Given the description of an element on the screen output the (x, y) to click on. 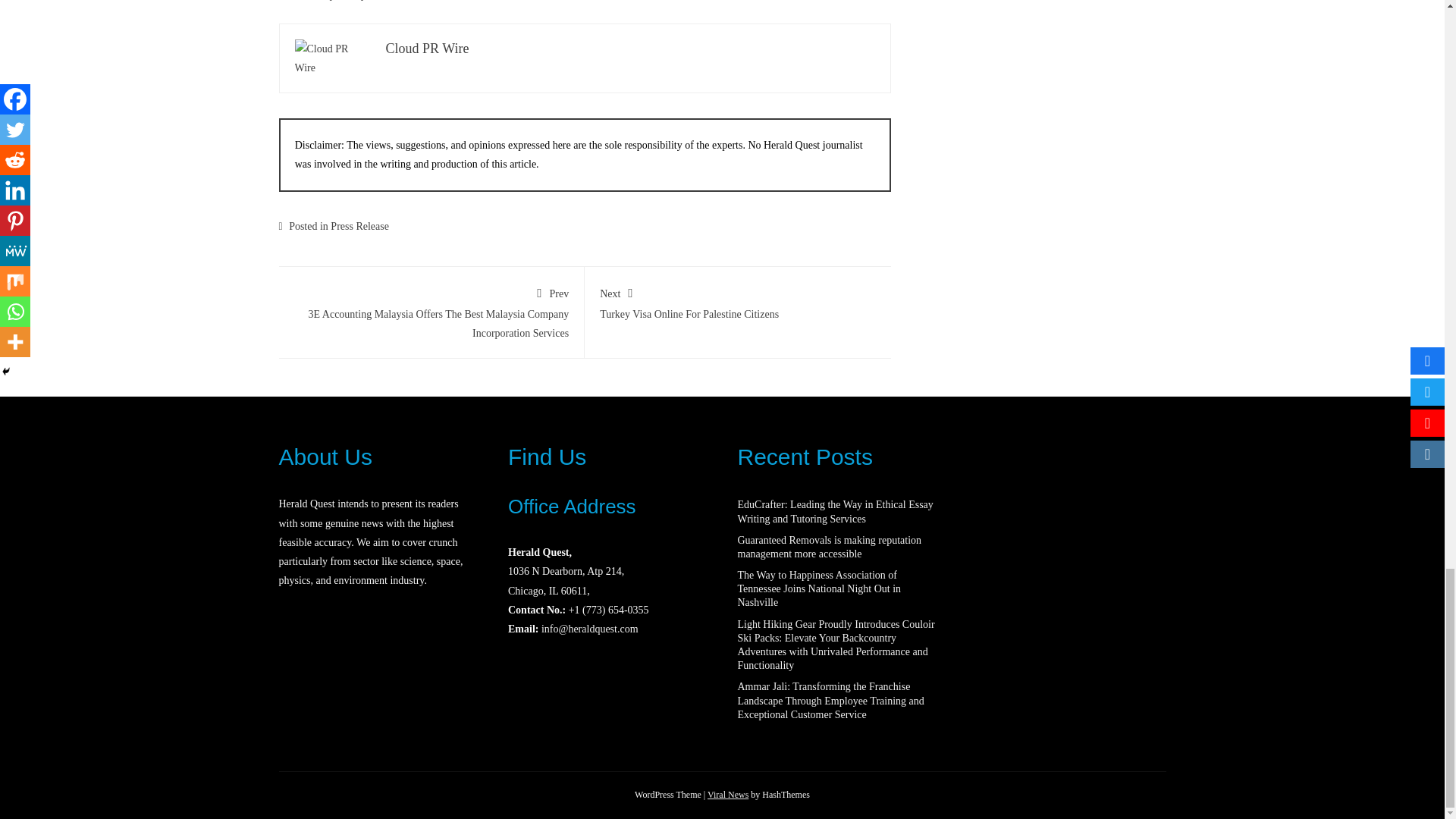
Cloud PR Wire (426, 48)
